Given the description of an element on the screen output the (x, y) to click on. 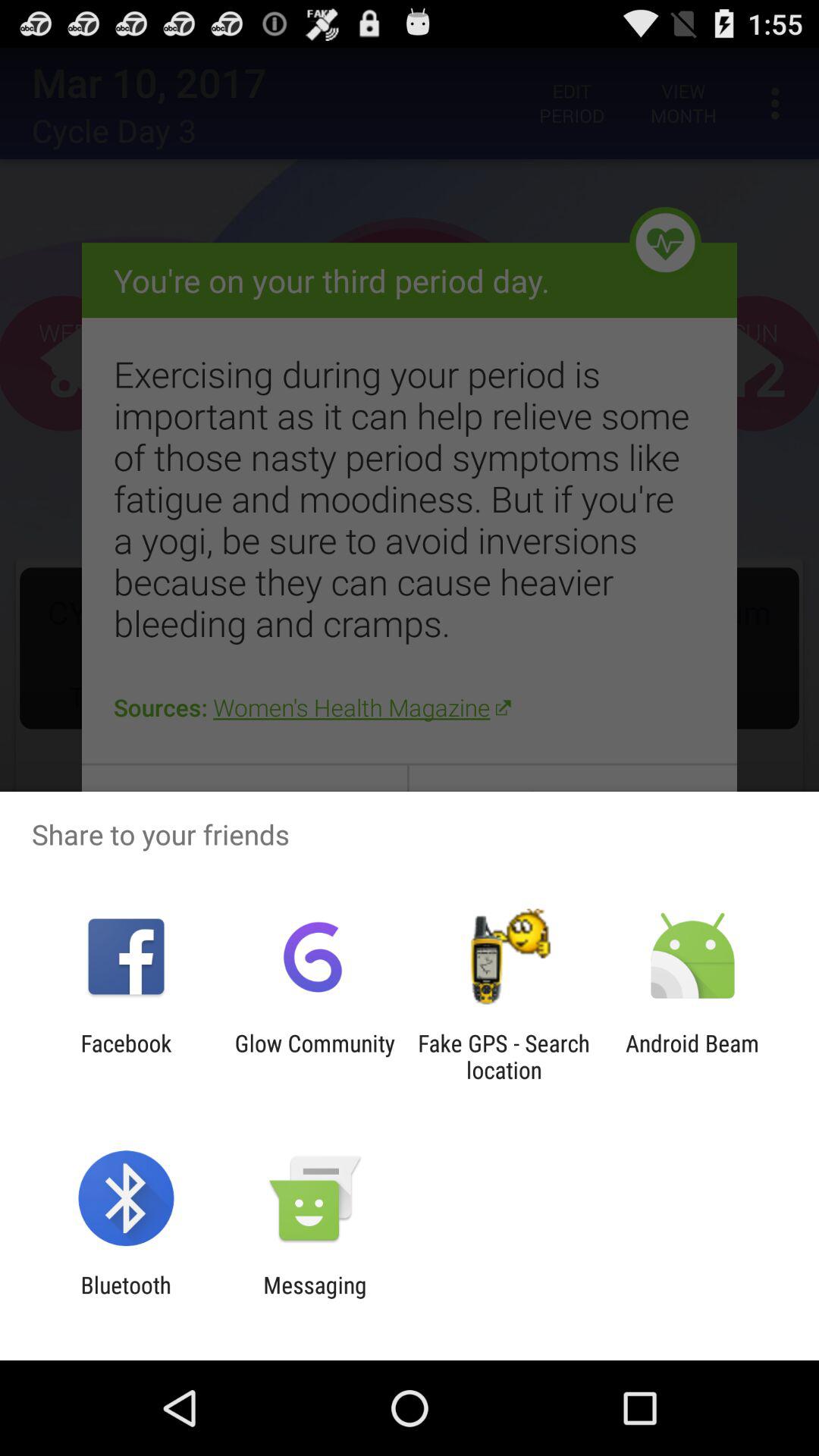
scroll to the messaging (314, 1298)
